Given the description of an element on the screen output the (x, y) to click on. 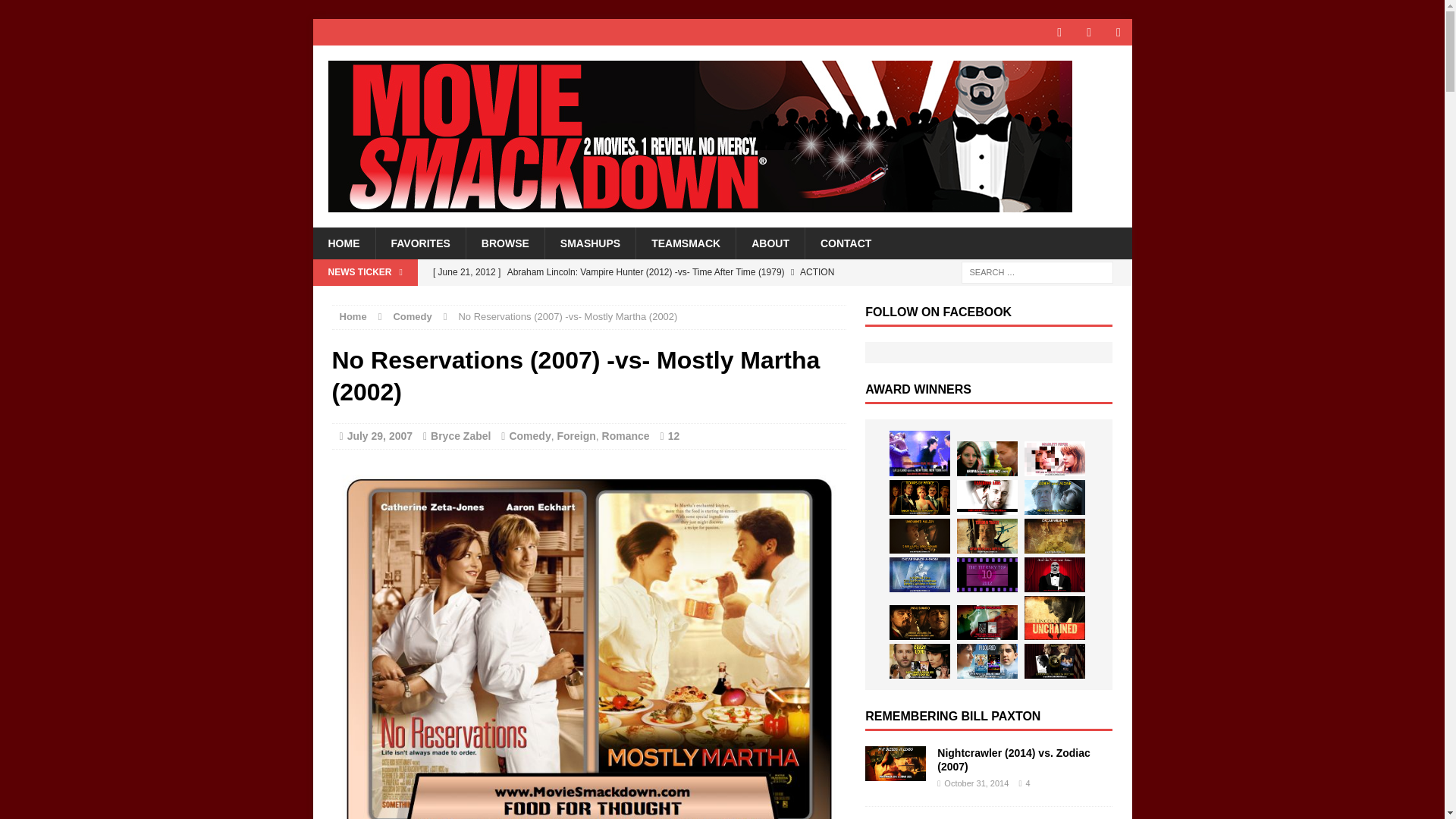
12 (673, 435)
